Given the description of an element on the screen output the (x, y) to click on. 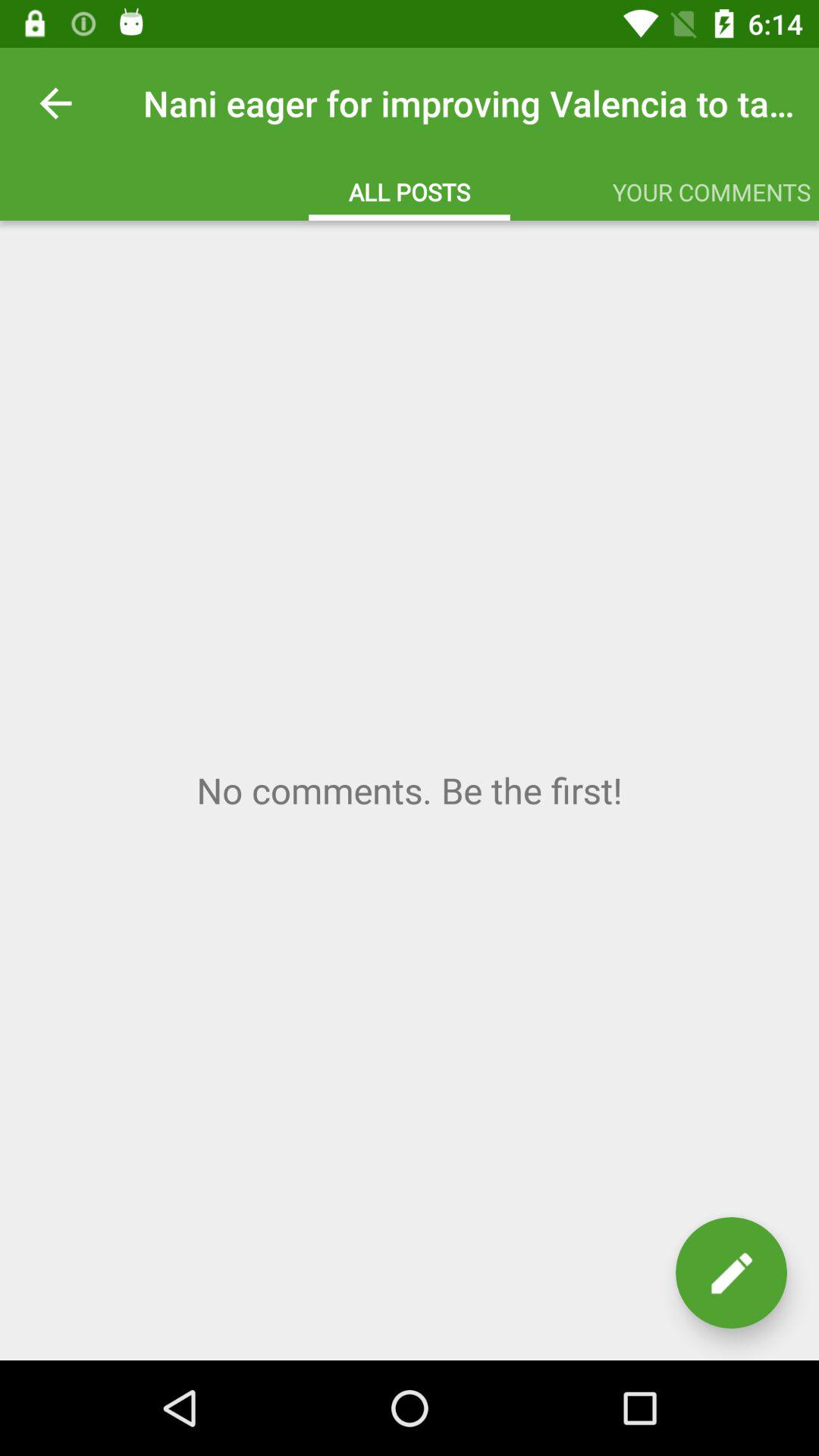
turn off icon to the left of nani eager for (55, 103)
